Given the description of an element on the screen output the (x, y) to click on. 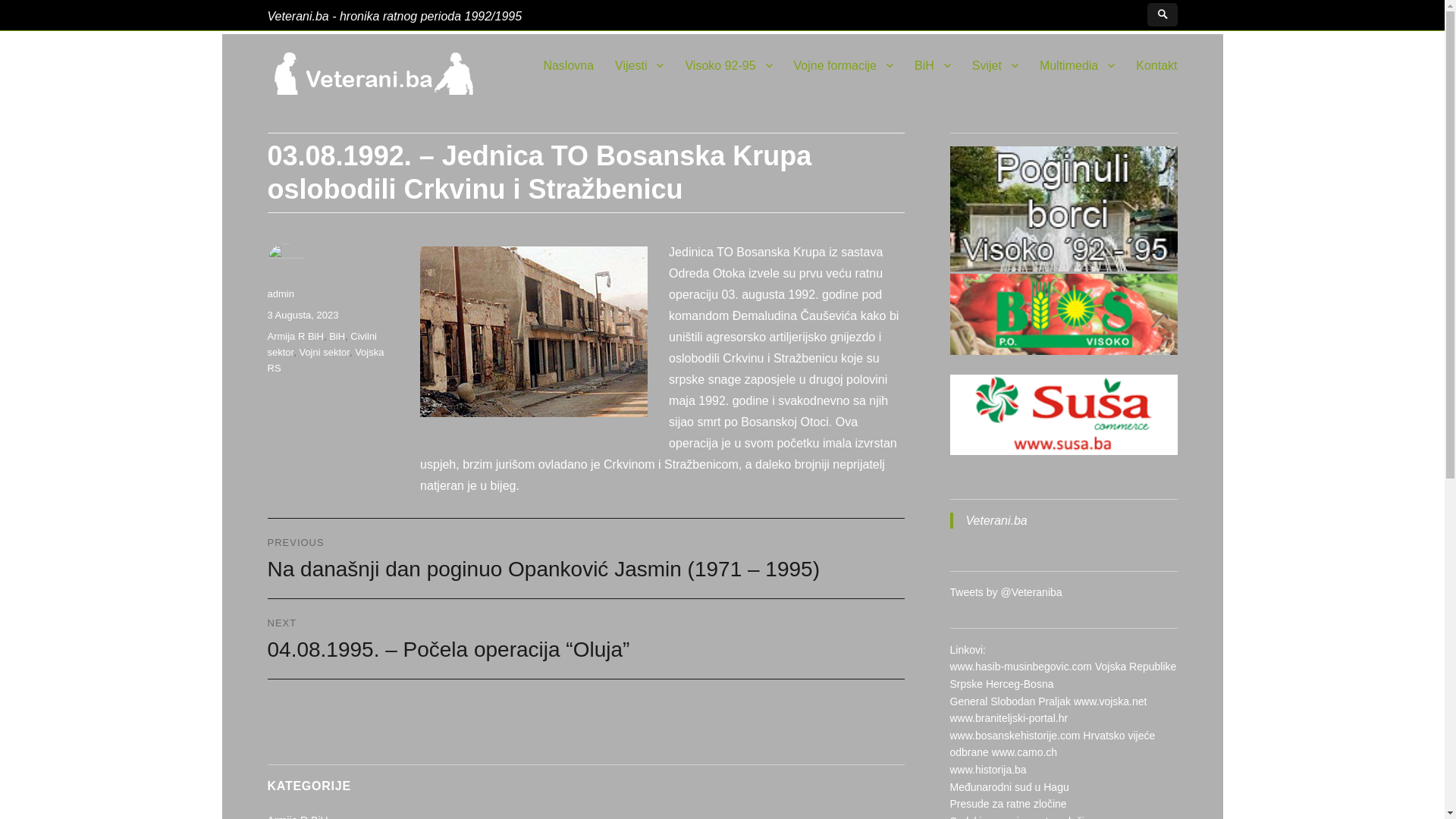
Vojska Republike Srpske Element type: text (1062, 675)
Vojni sektor Element type: text (323, 351)
www.hasib-musinbegovic.com Element type: text (1020, 666)
Pogunuli borci Element type: hover (1062, 208)
Kontakt Element type: text (1156, 65)
admin Element type: text (279, 293)
Naslovna Element type: text (568, 65)
Veterani.ba Element type: text (996, 520)
Svijet Element type: text (995, 65)
Visoko 92-95 Element type: text (728, 65)
Civilni sektor Element type: text (321, 343)
www.camo.ch Element type: text (1024, 752)
www.bosanskehistorije.com Element type: text (1014, 735)
www.historija.ba Element type: text (987, 769)
General Slobodan Praljak Element type: text (1009, 701)
Tweets by @Veteraniba Element type: text (1005, 592)
Armija R BiH Element type: text (294, 336)
www.braniteljski-portal.hr Element type: text (1008, 718)
Vojne formacije Element type: text (843, 65)
Vojska RS Element type: text (324, 359)
Multimedia Element type: text (1077, 65)
Herceg-Bosna Element type: text (1019, 683)
BiH Element type: text (337, 336)
3 Augusta, 2023 Element type: text (302, 314)
Vijesti Element type: text (639, 65)
BiH Element type: text (932, 65)
www.vojska.net Element type: text (1109, 701)
